Given the description of an element on the screen output the (x, y) to click on. 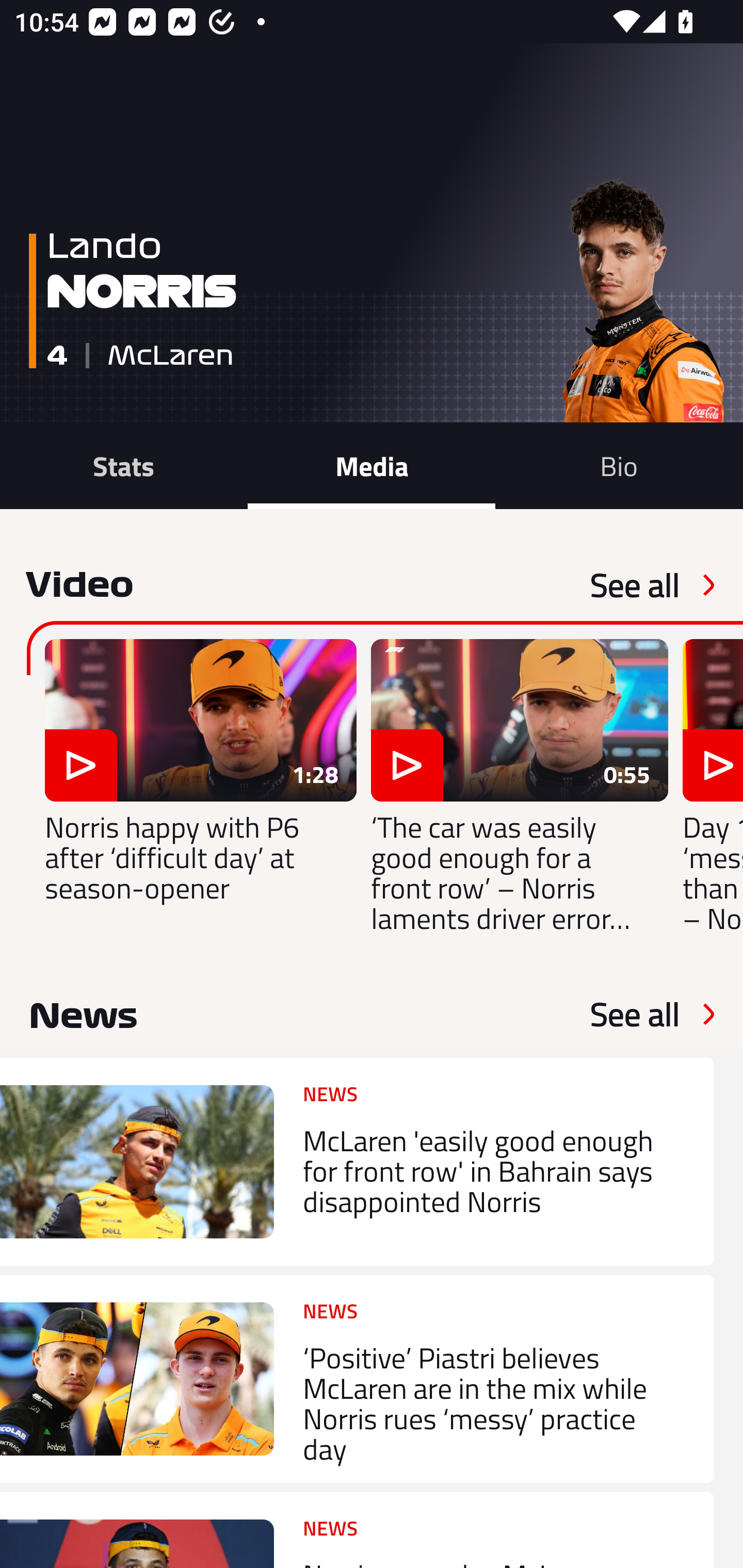
Stats (123, 465)
Bio (619, 465)
See all (634, 584)
See all (634, 1014)
